Given the description of an element on the screen output the (x, y) to click on. 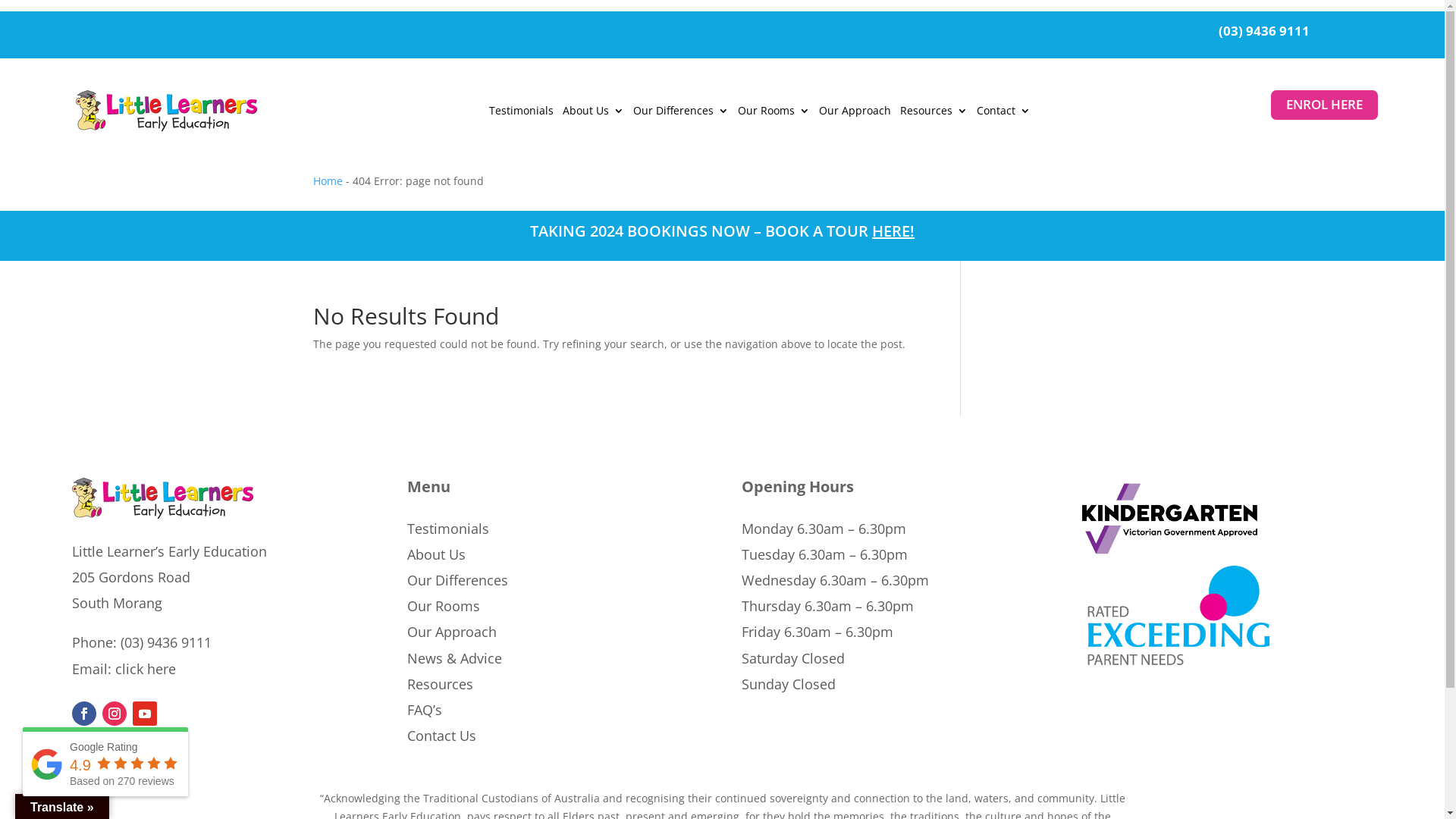
ENROL HERE Element type: text (1323, 104)
Our Rooms Element type: text (773, 113)
Resources Element type: text (440, 683)
Our Approach Element type: text (451, 631)
LL Exceeding Parent Needs Final Element type: hover (1178, 666)
Testimonials Element type: text (521, 113)
Contact Element type: text (1003, 113)
Our Approach Element type: text (855, 113)
kinder-tick-logo-colour-hi-res Element type: hover (1169, 555)
Home Element type: text (327, 180)
Follow on Instagram Element type: hover (114, 713)
250x54 website logo Element type: hover (166, 514)
Little Learners Early Education with Bear Logo Element type: hover (170, 110)
Follow on Facebook Element type: hover (84, 713)
Testimonials Element type: text (448, 528)
Resources Element type: text (933, 113)
Our Differences Element type: text (457, 580)
click here Element type: text (145, 668)
Follow on Youtube Element type: hover (144, 713)
Our Rooms Element type: text (443, 605)
Contact Us Element type: text (441, 735)
HERE Element type: text (891, 230)
About Us Element type: text (436, 554)
About Us Element type: text (593, 113)
Our Differences Element type: text (680, 113)
News & Advice Element type: text (454, 658)
